Given the description of an element on the screen output the (x, y) to click on. 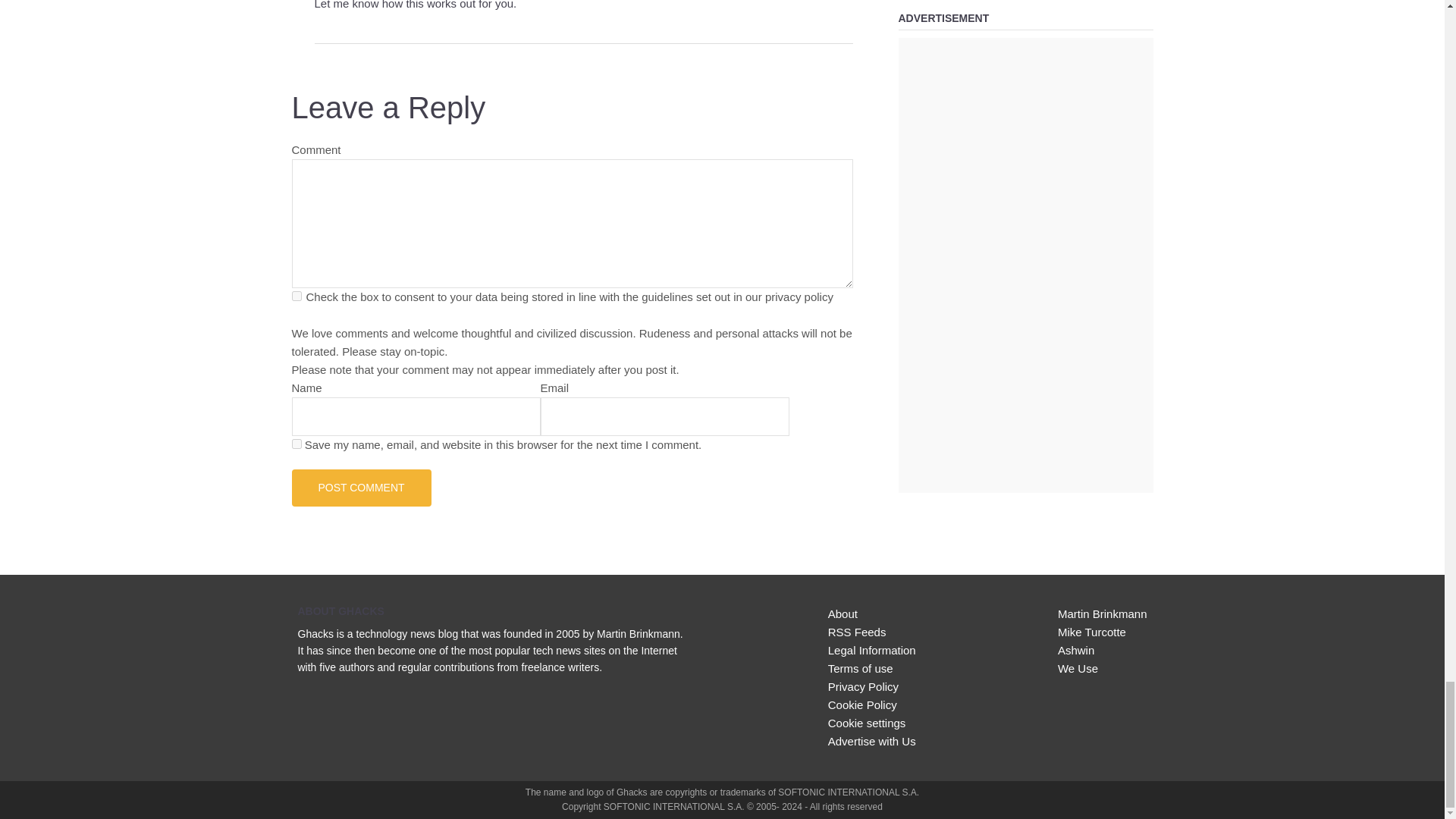
yes (296, 443)
privacy-key (296, 296)
Post Comment (360, 487)
